Given the description of an element on the screen output the (x, y) to click on. 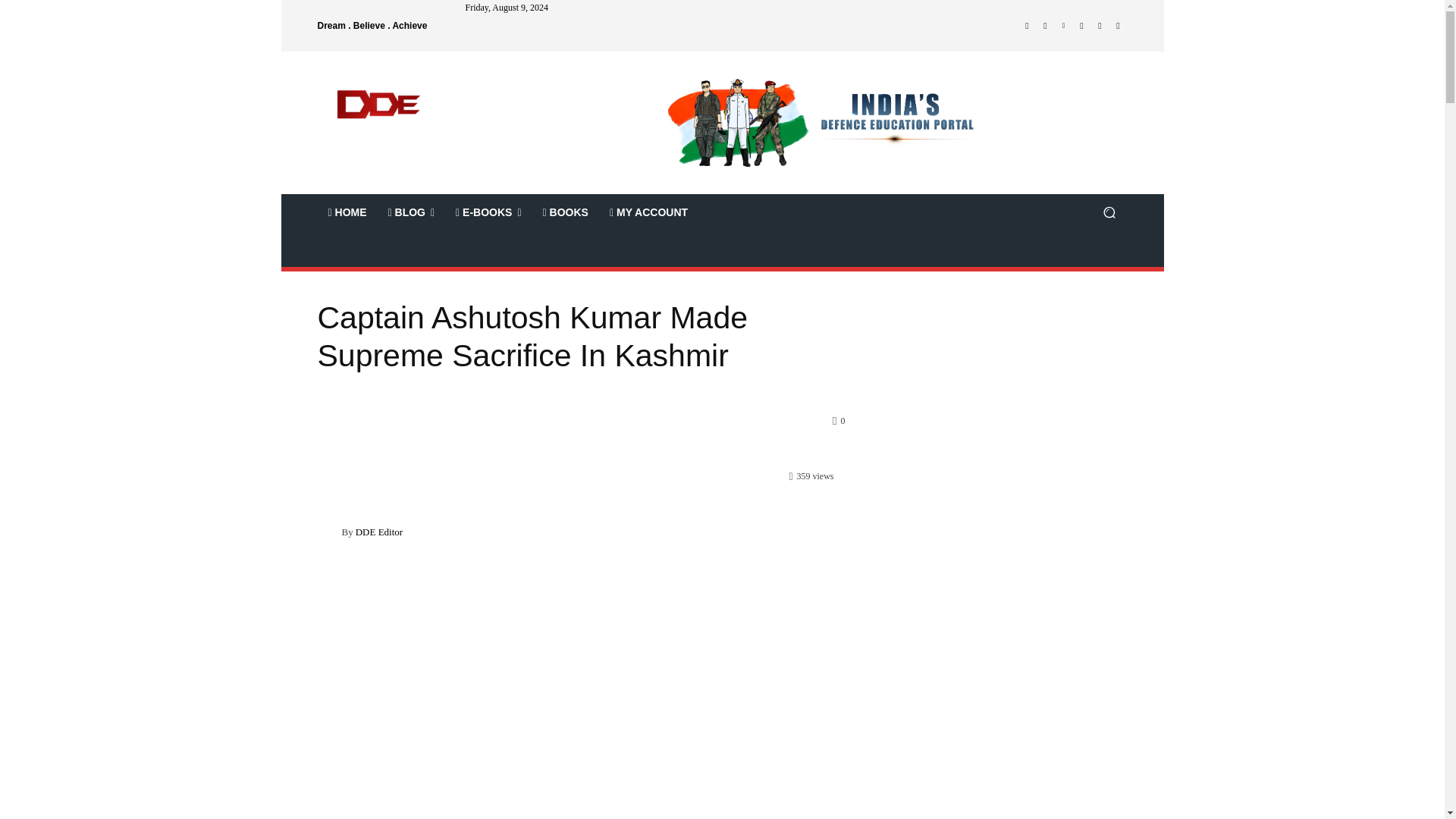
Youtube (1117, 25)
Facebook (1026, 25)
HOME (347, 212)
Pinterest (1062, 25)
Telegram (1080, 25)
Twitter (1099, 25)
Instagram (1044, 25)
E-BOOKS (488, 212)
BLOG (411, 212)
